Given the description of an element on the screen output the (x, y) to click on. 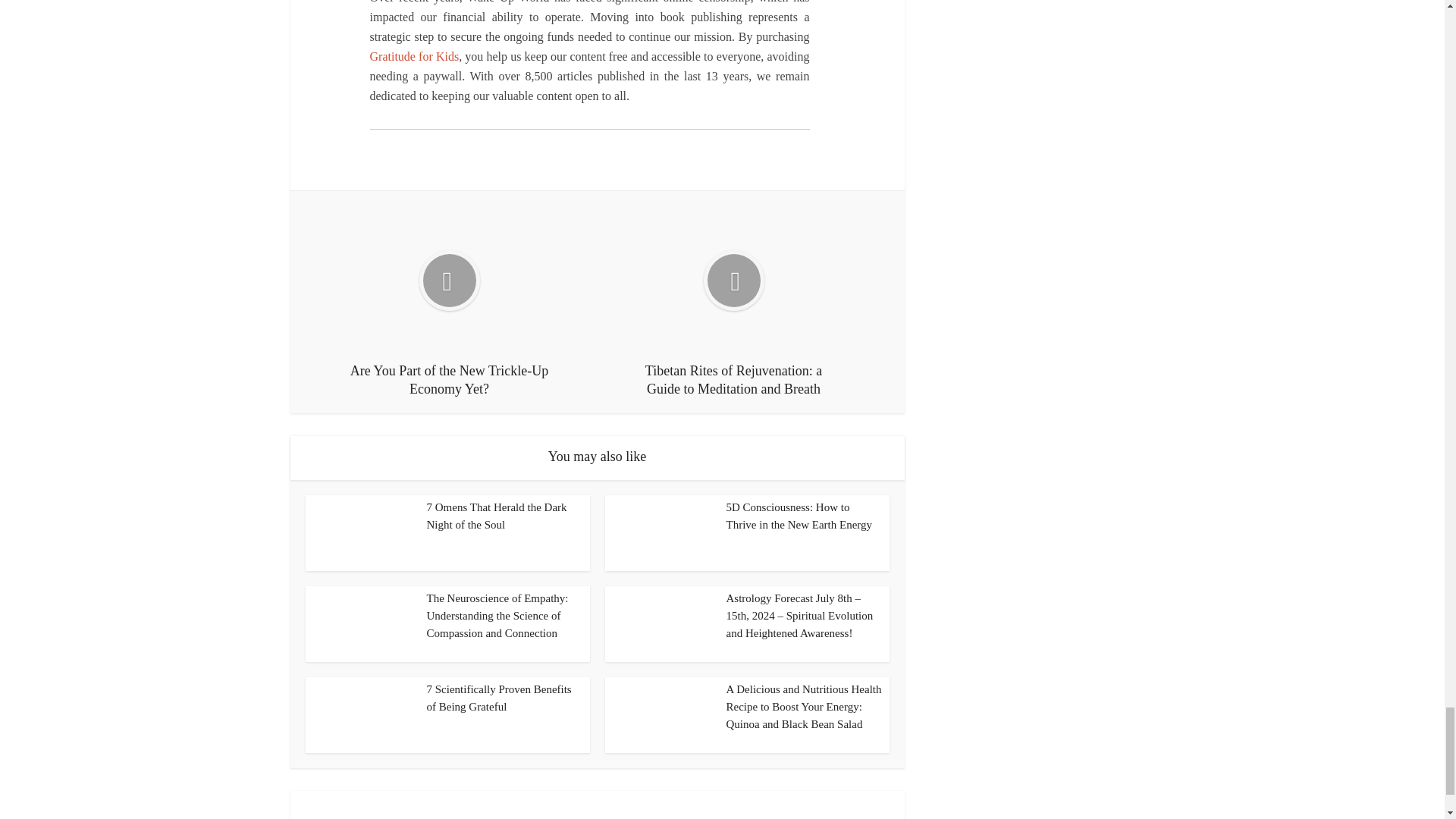
5D Consciousness: How to Thrive in the New Earth Energy (799, 515)
7 Omens That Herald the Dark Night of the Soul (496, 515)
